Given the description of an element on the screen output the (x, y) to click on. 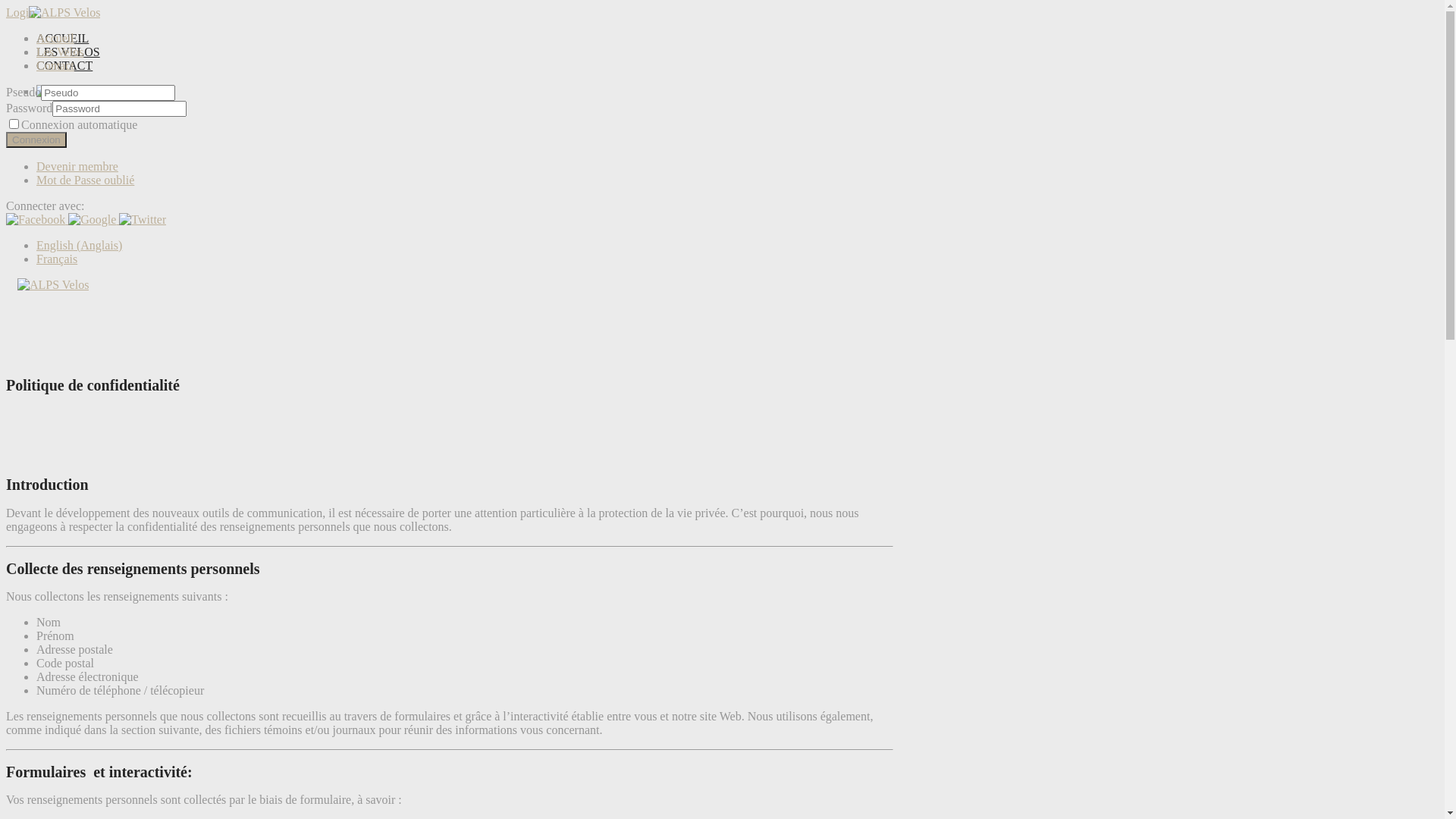
Accueil Element type: text (55, 37)
Connexion Element type: text (36, 139)
Contact Element type: text (55, 65)
ACCUEIL Element type: text (62, 37)
CONTACT Element type: text (64, 65)
LES VELOS Element type: text (68, 51)
English Element type: hover (78, 105)
Login Element type: text (20, 12)
Devenir membre Element type: text (77, 166)
Les Velos Element type: text (59, 51)
English (Anglais) Element type: text (79, 244)
